Given the description of an element on the screen output the (x, y) to click on. 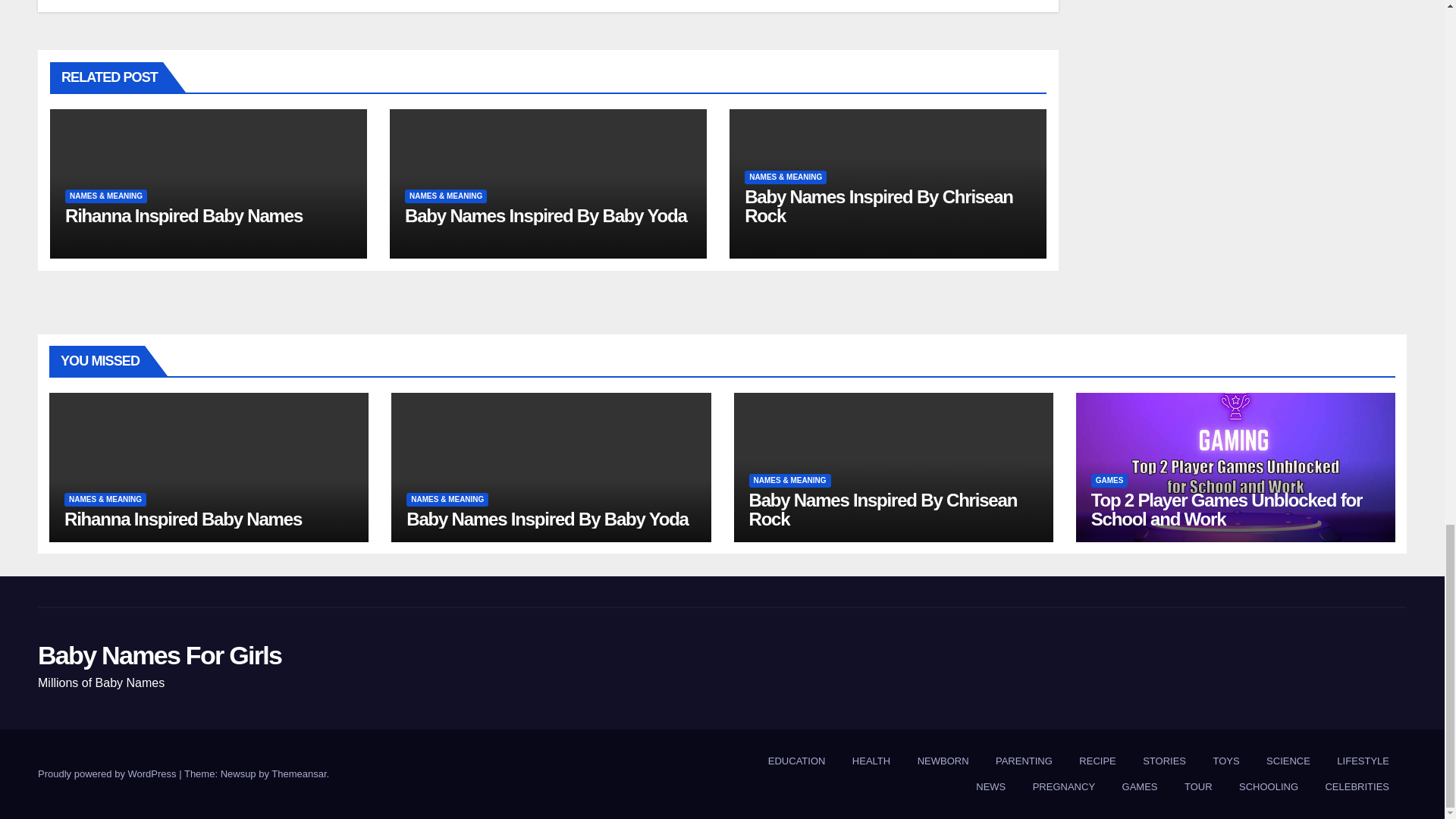
Baby Names Inspired By Chrisean Rock (878, 206)
Permalink to: Rihanna Inspired Baby Names (183, 215)
Rihanna Inspired Baby Names (183, 215)
Baby Names Inspired By Baby Yoda (545, 215)
